Given the description of an element on the screen output the (x, y) to click on. 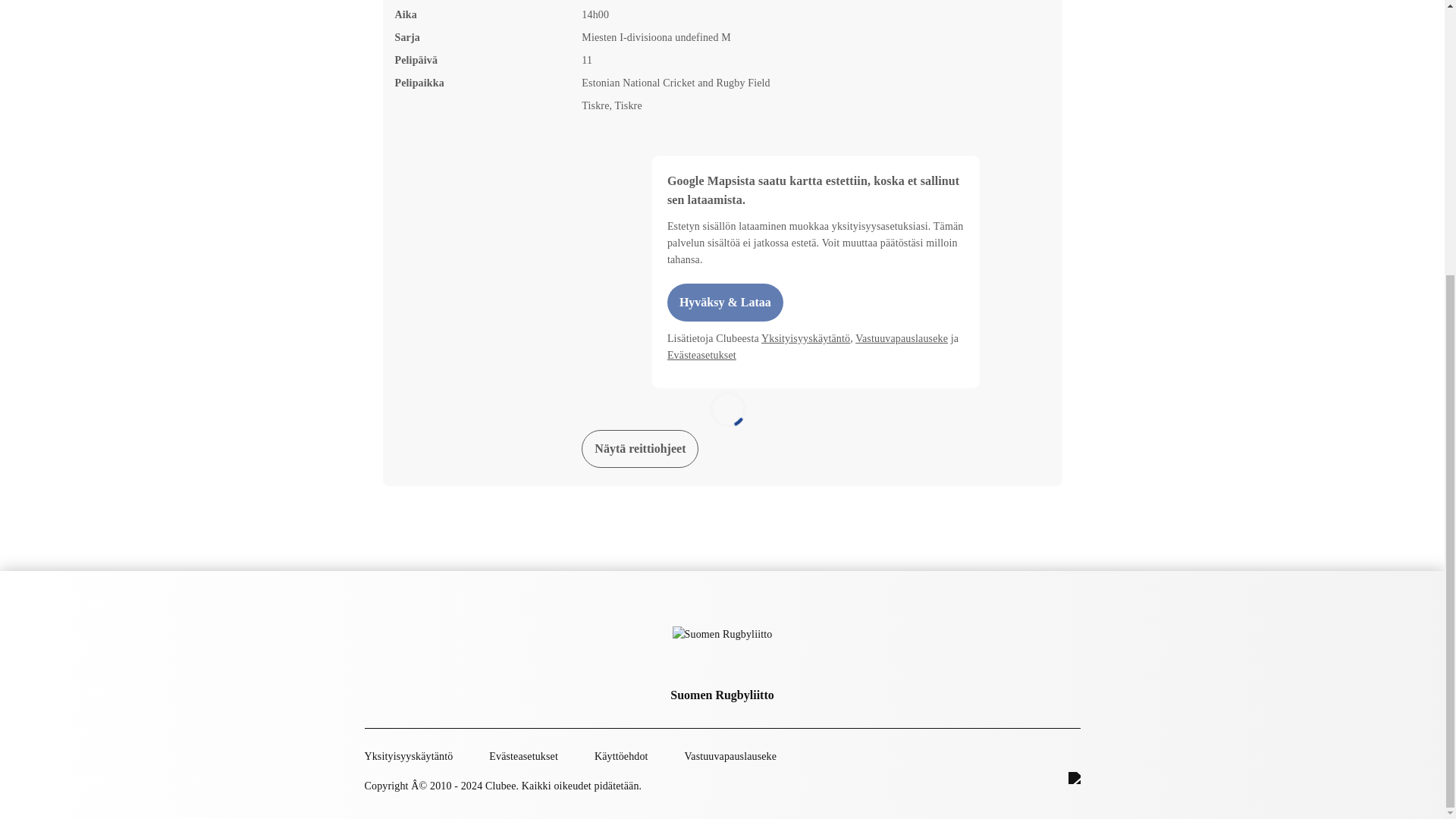
Vastuuvapauslauseke (730, 755)
Vastuuvapauslauseke (901, 337)
Suomen Rugbyliitto (721, 695)
